Given the description of an element on the screen output the (x, y) to click on. 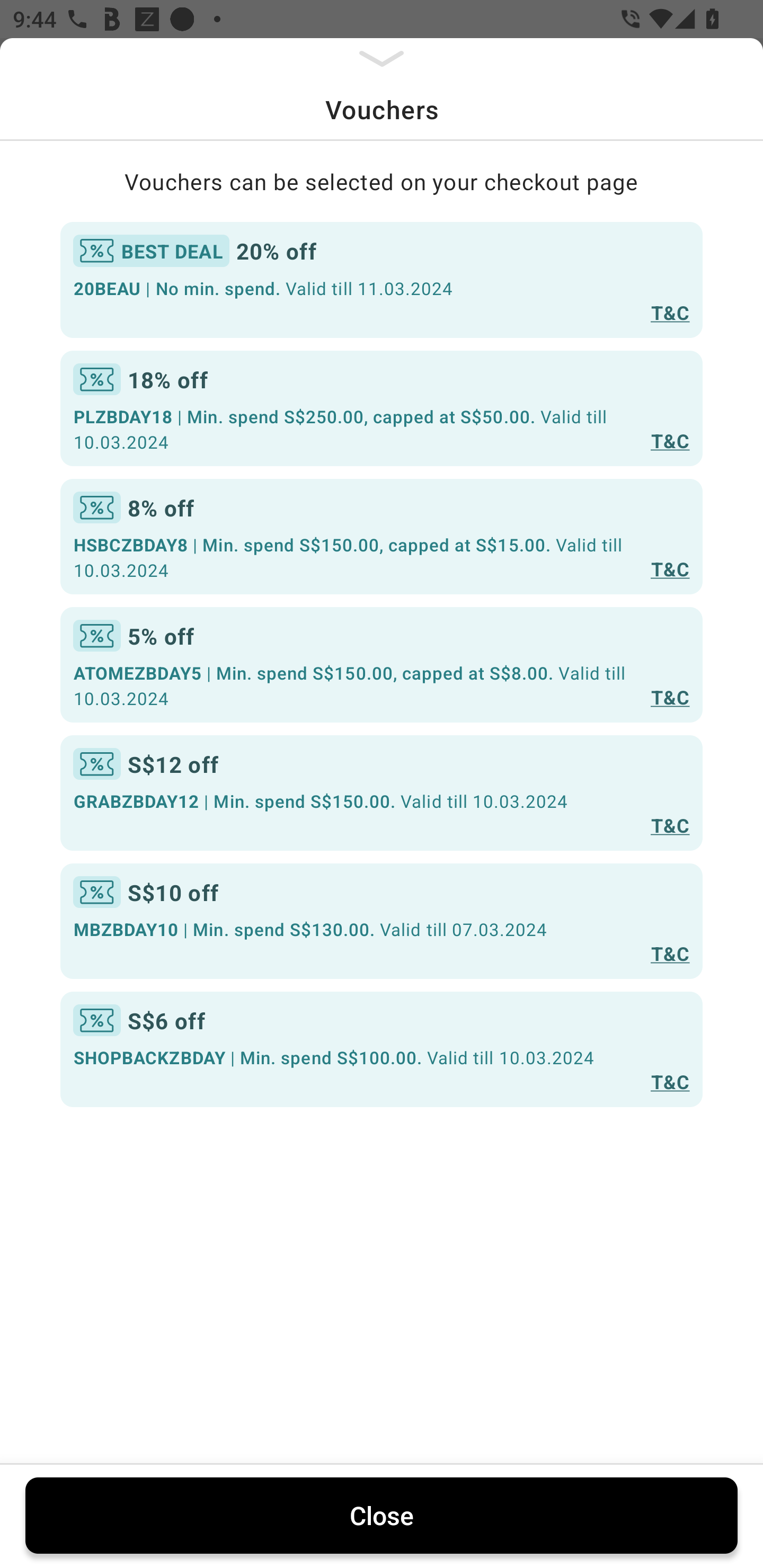
T&C (669, 311)
T&C (669, 440)
T&C (669, 568)
T&C (669, 696)
T&C (669, 824)
T&C (669, 952)
T&C (669, 1080)
Close (381, 1515)
